Given the description of an element on the screen output the (x, y) to click on. 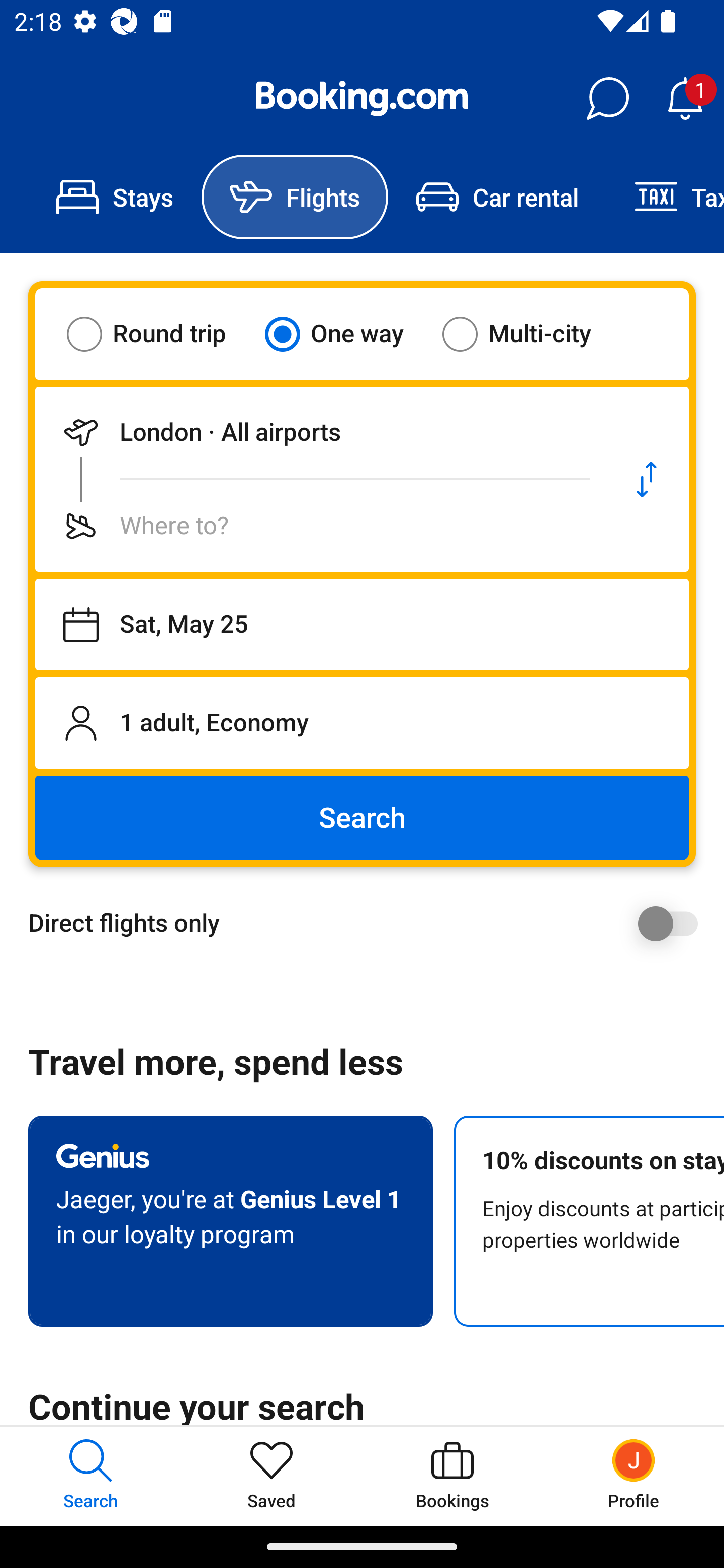
Messages (607, 98)
Notifications (685, 98)
Stays (114, 197)
Flights (294, 197)
Car rental (497, 197)
Taxi (665, 197)
Round trip (158, 333)
Multi-city (528, 333)
Departing from London · All airports (319, 432)
Swap departure location and destination (646, 479)
Flying to  (319, 525)
Departing on Sat, May 25 (361, 624)
1 adult, Economy (361, 722)
Search (361, 818)
Direct flights only (369, 923)
Saved (271, 1475)
Bookings (452, 1475)
Profile (633, 1475)
